Given the description of an element on the screen output the (x, y) to click on. 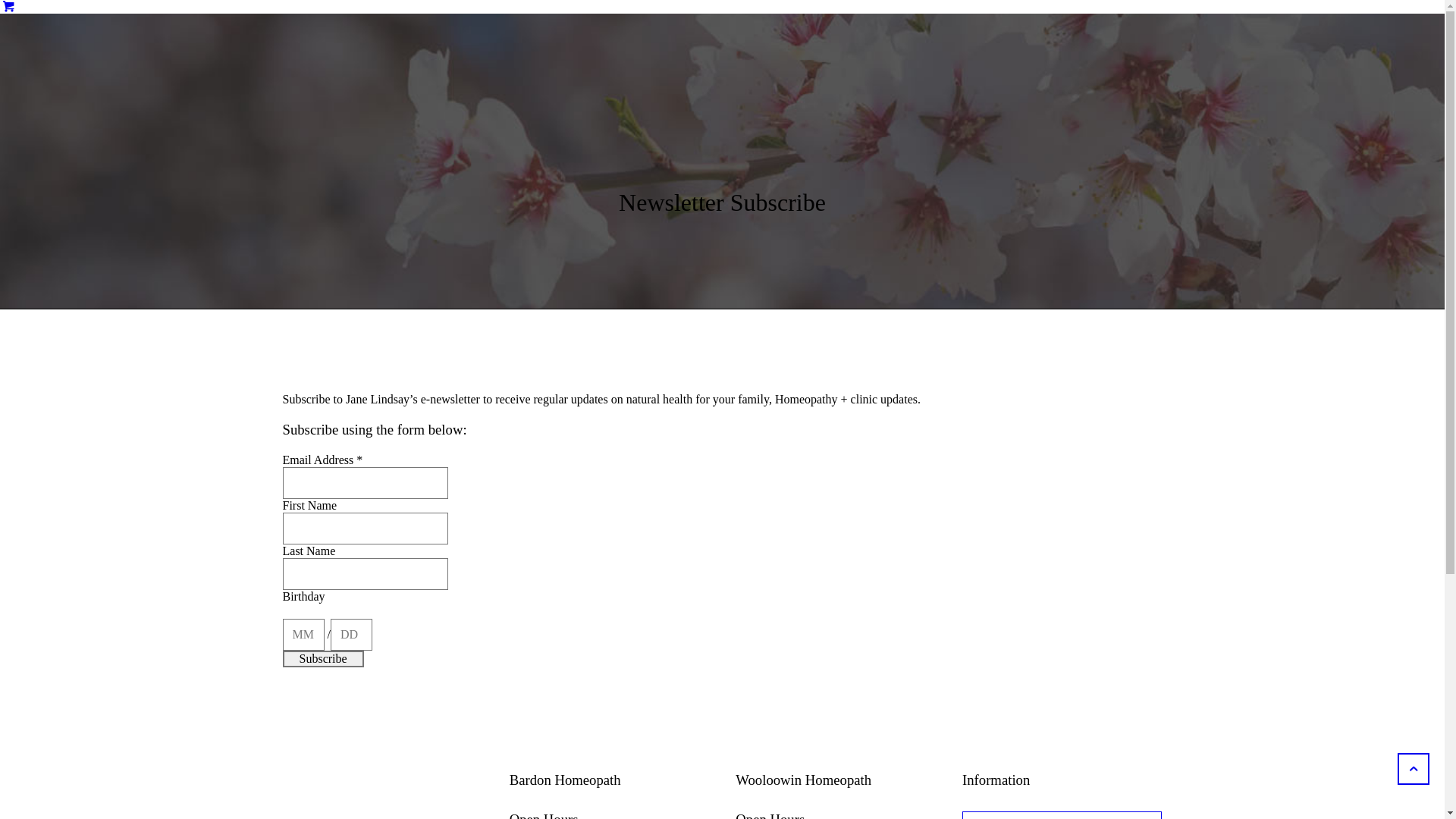
Subscribe Element type: text (322, 658)
